Given the description of an element on the screen output the (x, y) to click on. 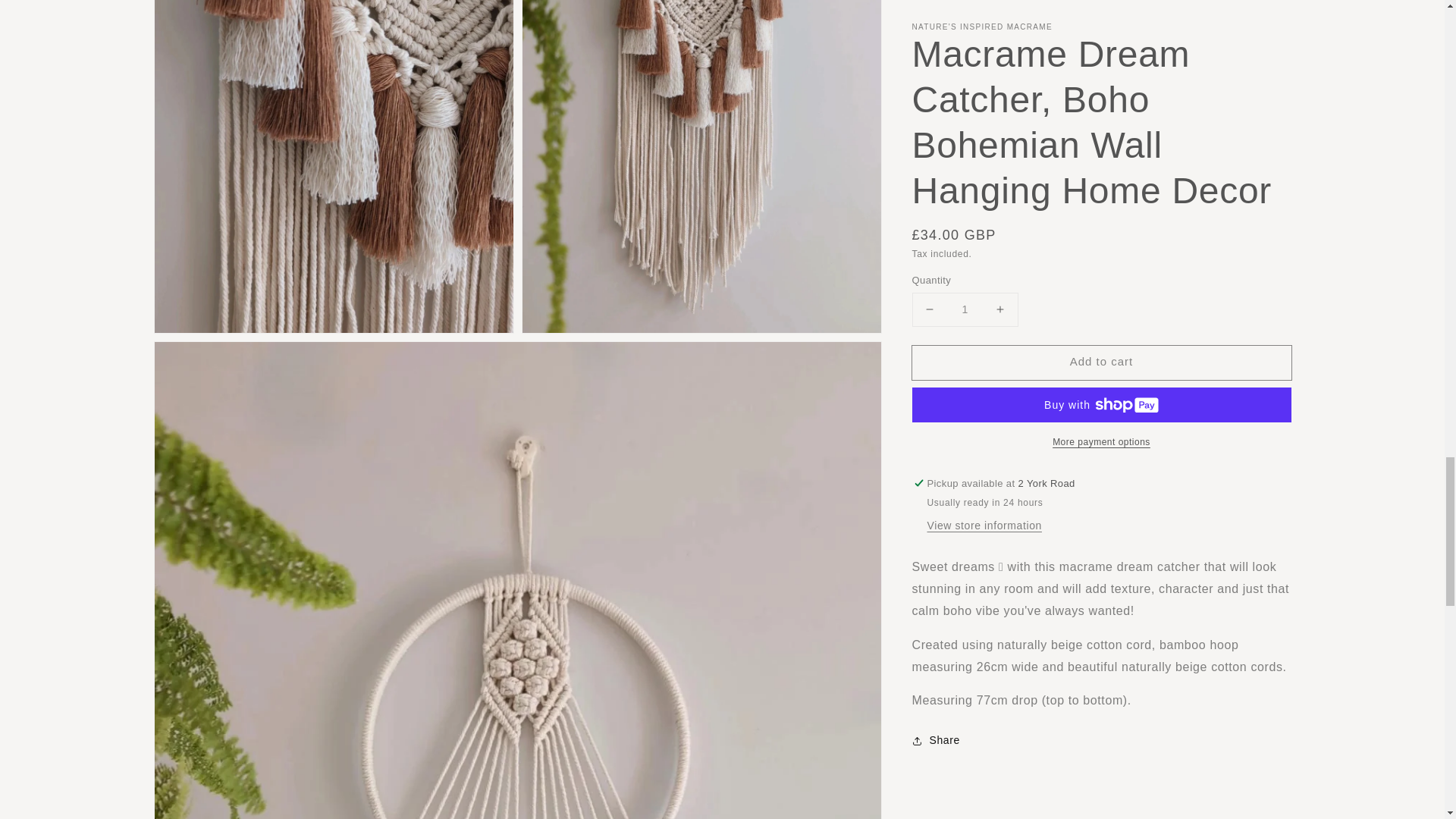
Open media 4 in gallery view (333, 166)
Open media 5 in gallery view (700, 166)
